Given the description of an element on the screen output the (x, y) to click on. 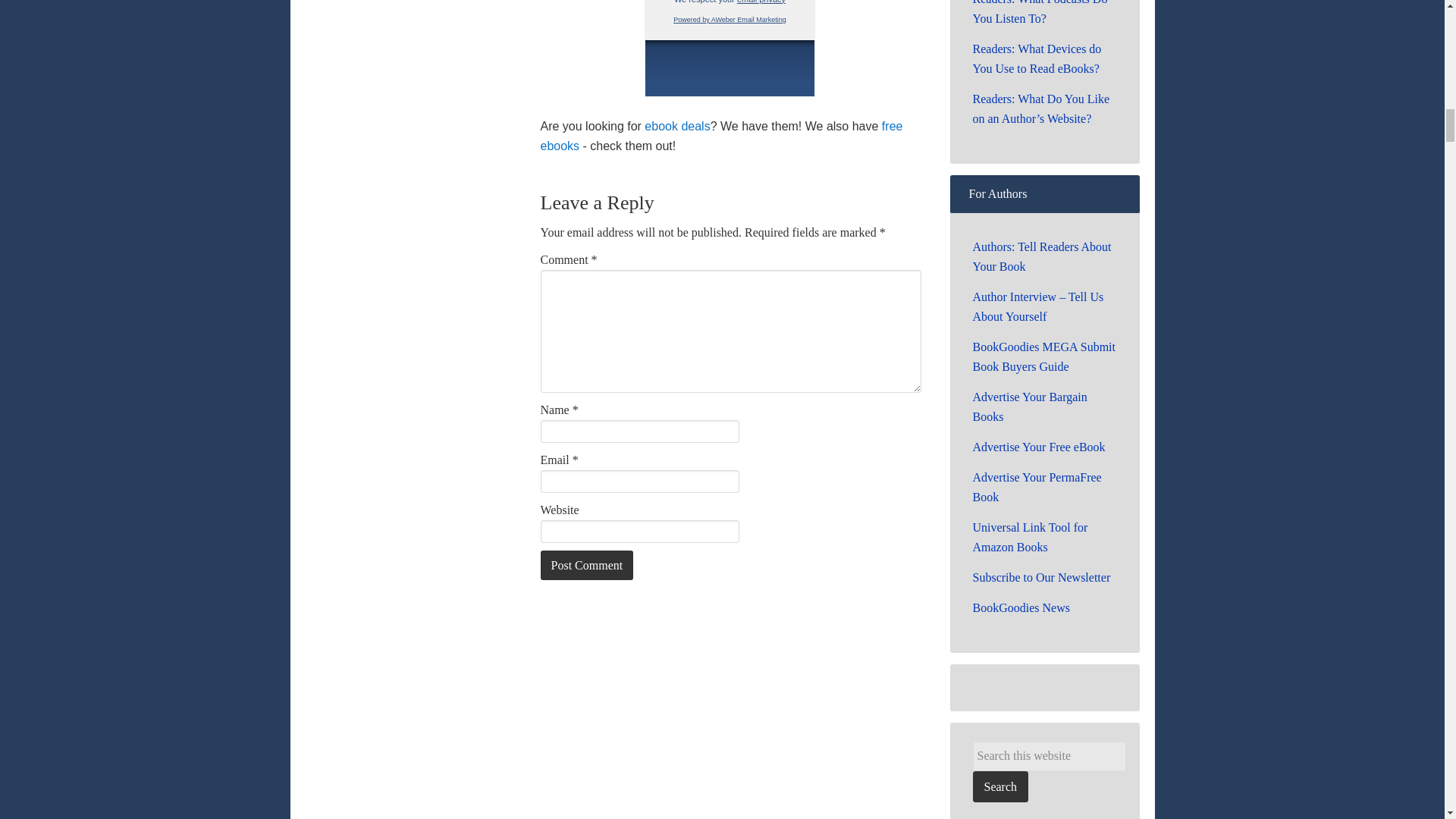
Search (999, 786)
Privacy Policy (761, 2)
Search (999, 786)
AWeber Email Marketing (729, 19)
Post Comment (586, 564)
